Given the description of an element on the screen output the (x, y) to click on. 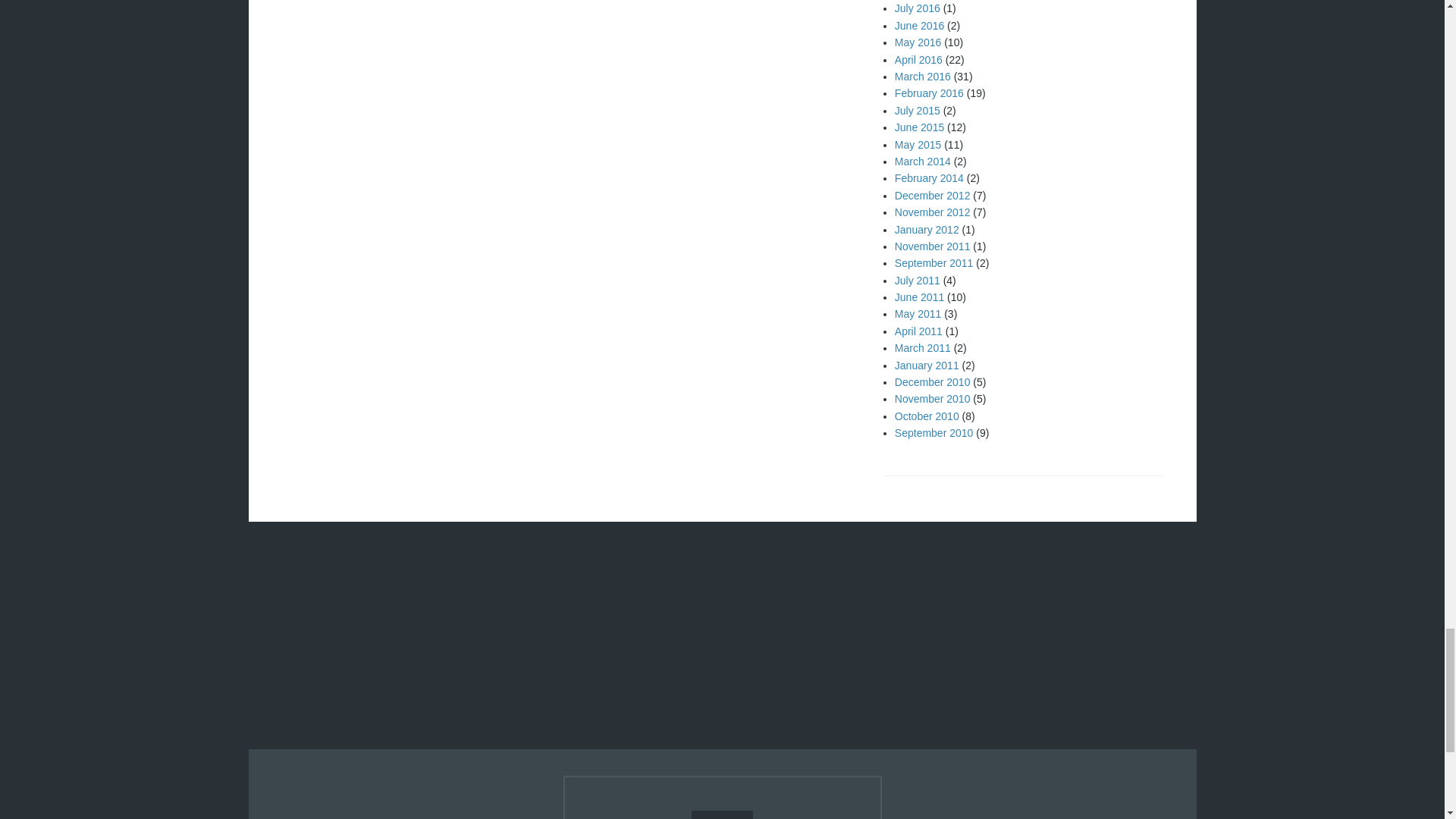
Search (721, 814)
Search (721, 814)
